Given the description of an element on the screen output the (x, y) to click on. 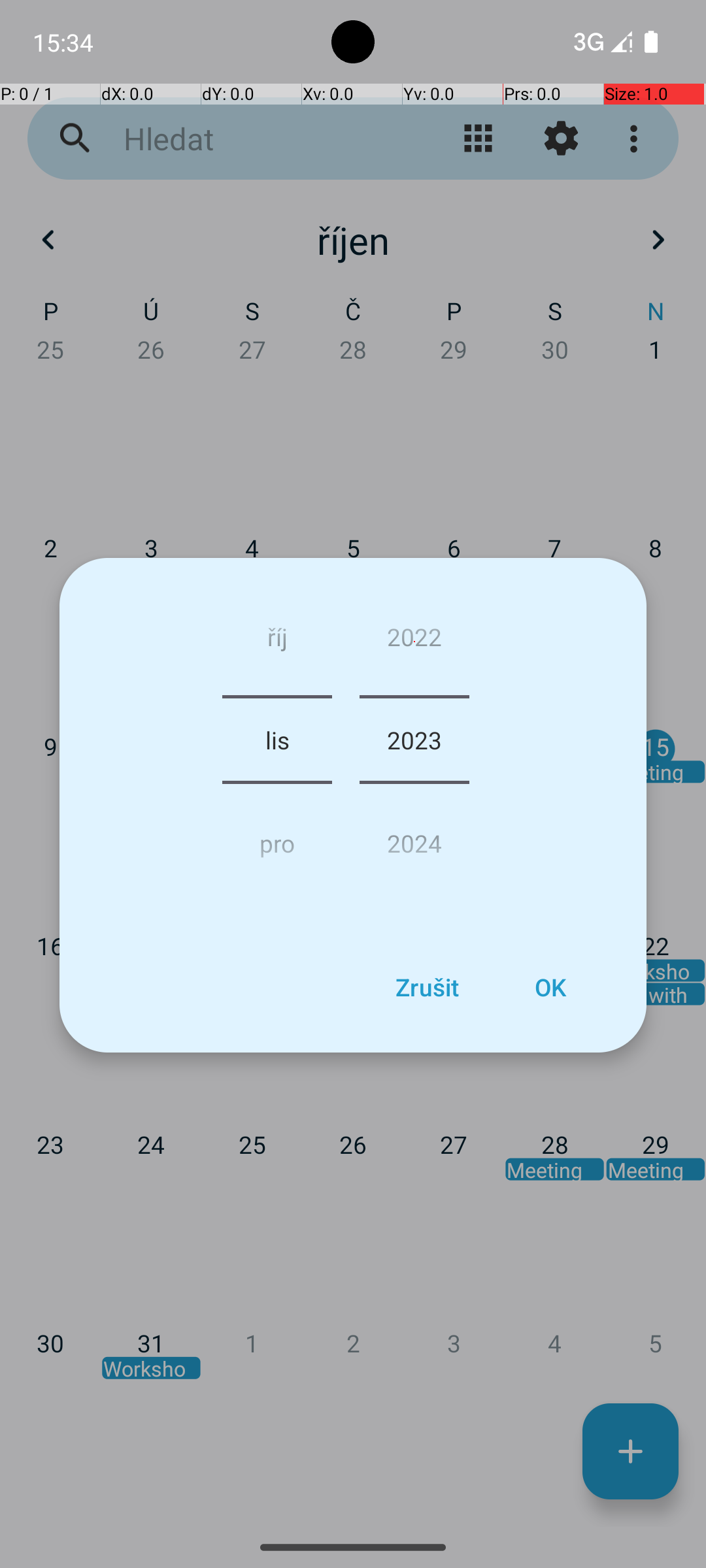
Zrušit Element type: android.widget.Button (426, 987)
říj Element type: android.widget.Button (277, 641)
lis Element type: android.widget.EditText (277, 739)
pro Element type: android.widget.Button (277, 837)
